Given the description of an element on the screen output the (x, y) to click on. 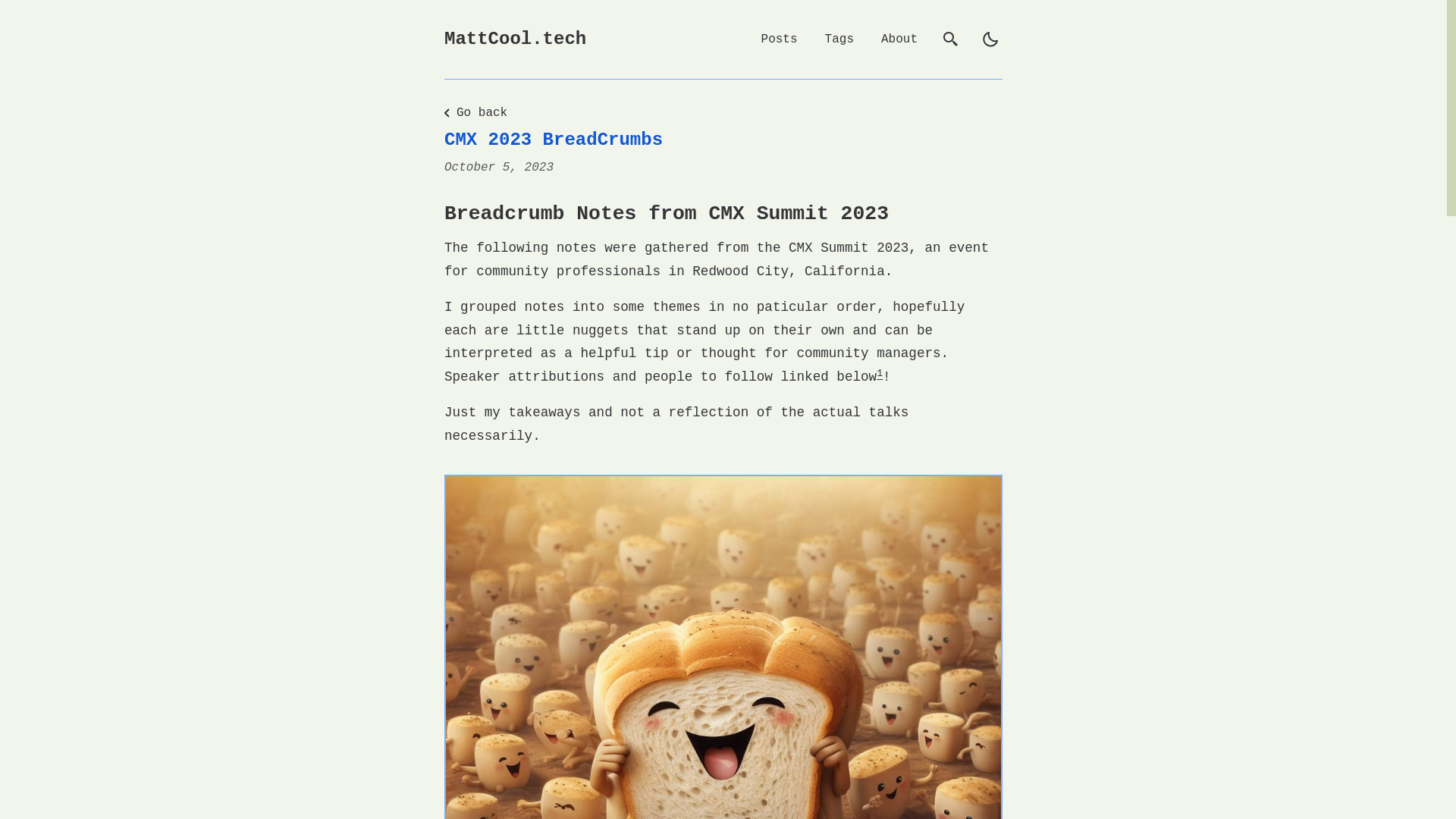
About (899, 39)
Go back (472, 113)
MattCool.tech (515, 39)
Tags (839, 39)
Search (950, 39)
Posts (779, 39)
